Given the description of an element on the screen output the (x, y) to click on. 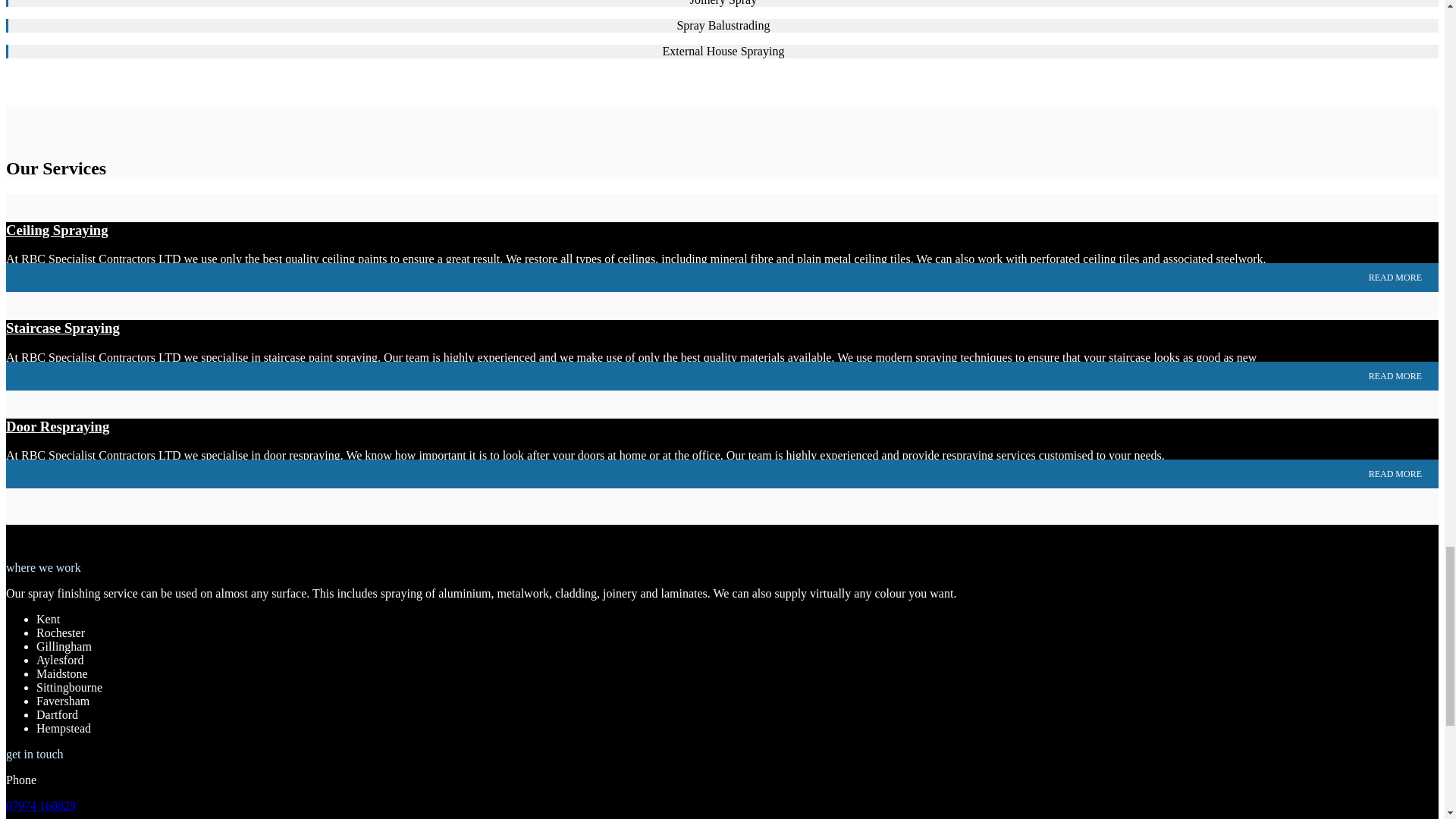
07974 160829 (40, 805)
Staircase Spraying (62, 327)
Door Respraying (57, 426)
Ceiling Spraying (56, 229)
